Given the description of an element on the screen output the (x, y) to click on. 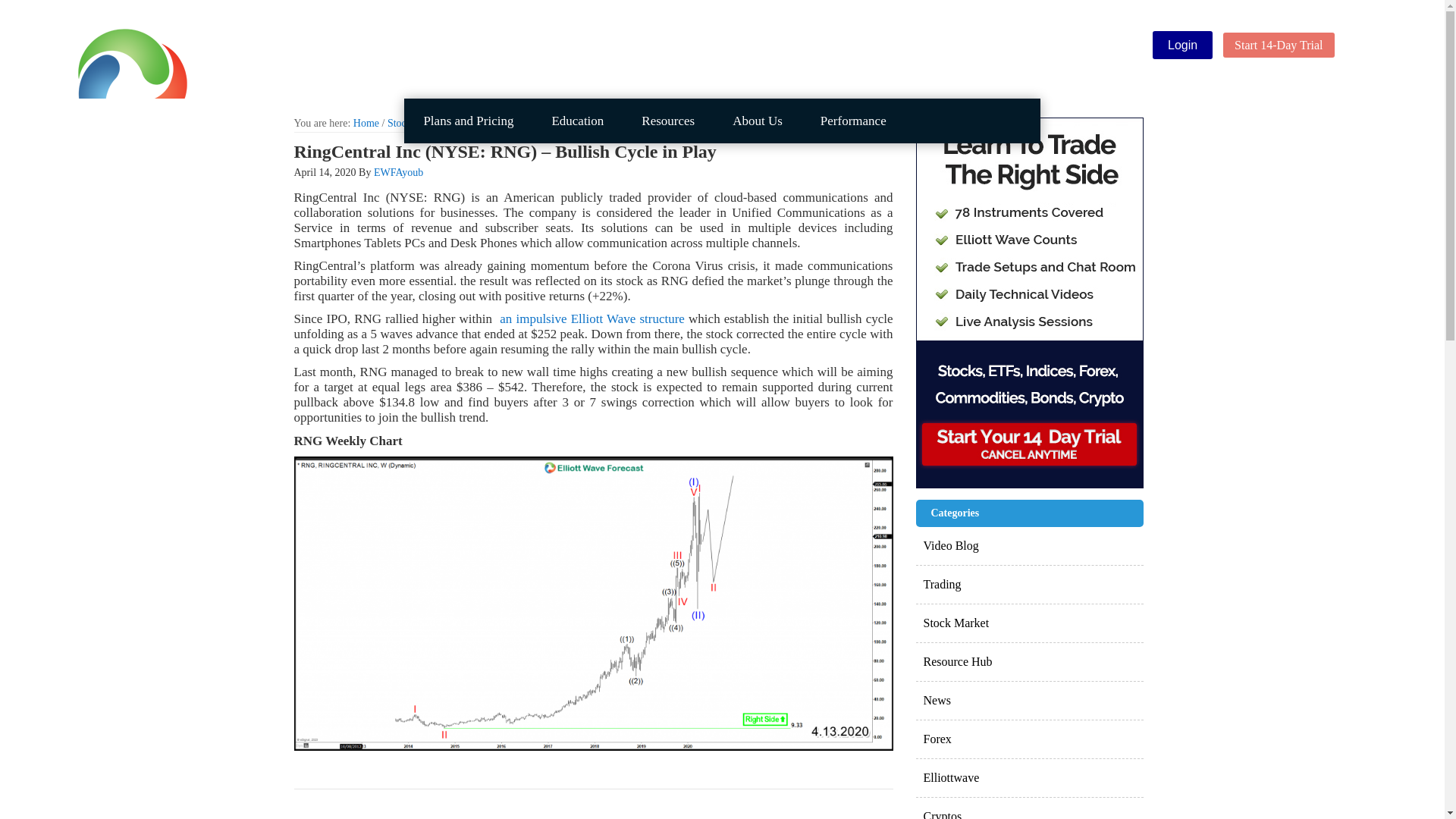
Education (577, 120)
Start 14-Day Trial (1278, 44)
an impulsive Elliott Wave structure (591, 318)
Plans and Pricing (468, 120)
Elliott Wave Forecast : Analysis and Trading Signals (204, 60)
Stock Market (416, 122)
Start 14-Day Trial (1278, 44)
Account Access (1182, 44)
Login (1182, 44)
Performance (853, 120)
Resources (668, 120)
Home (365, 122)
EWFAyoub (398, 172)
About Us (757, 120)
